Given the description of an element on the screen output the (x, y) to click on. 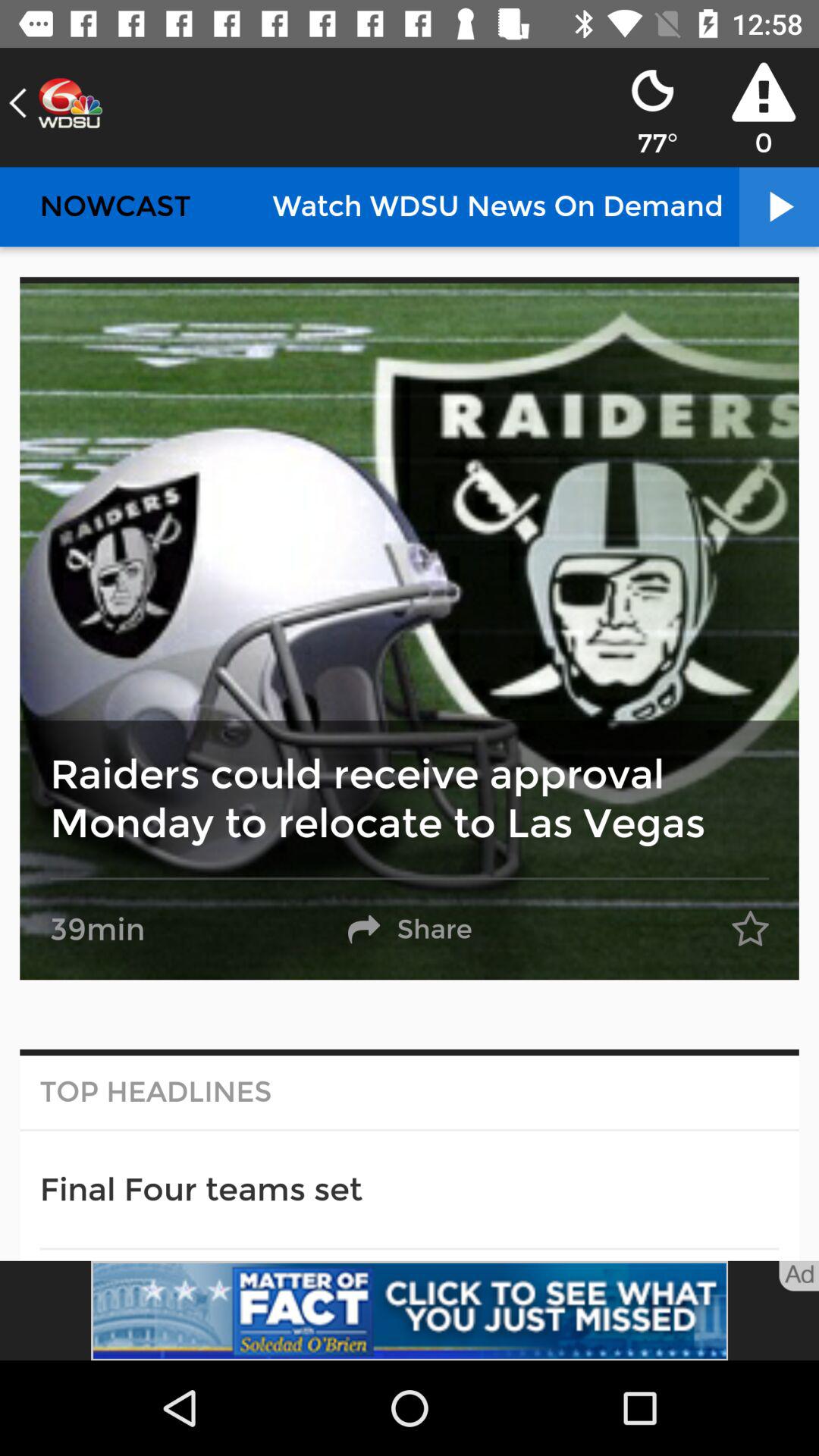
advertisement for matter of fact (409, 1310)
